Given the description of an element on the screen output the (x, y) to click on. 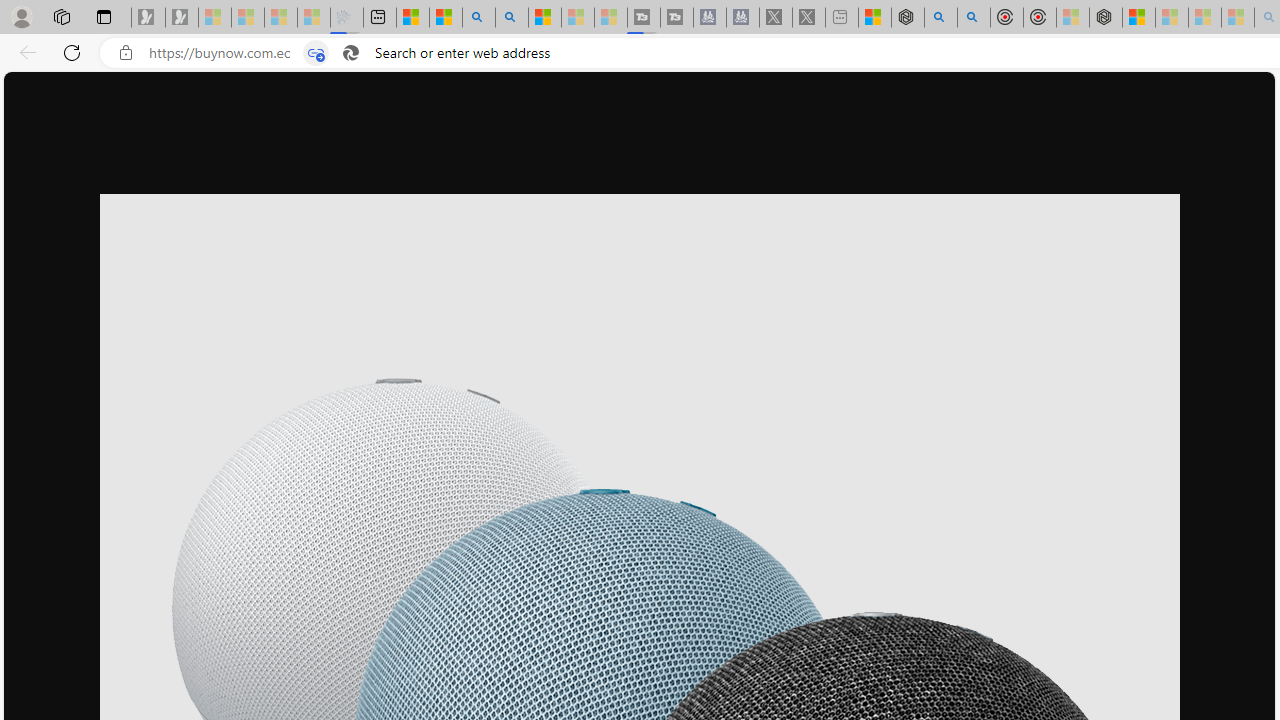
Personal Profile (21, 16)
Search icon (351, 53)
